Given the description of an element on the screen output the (x, y) to click on. 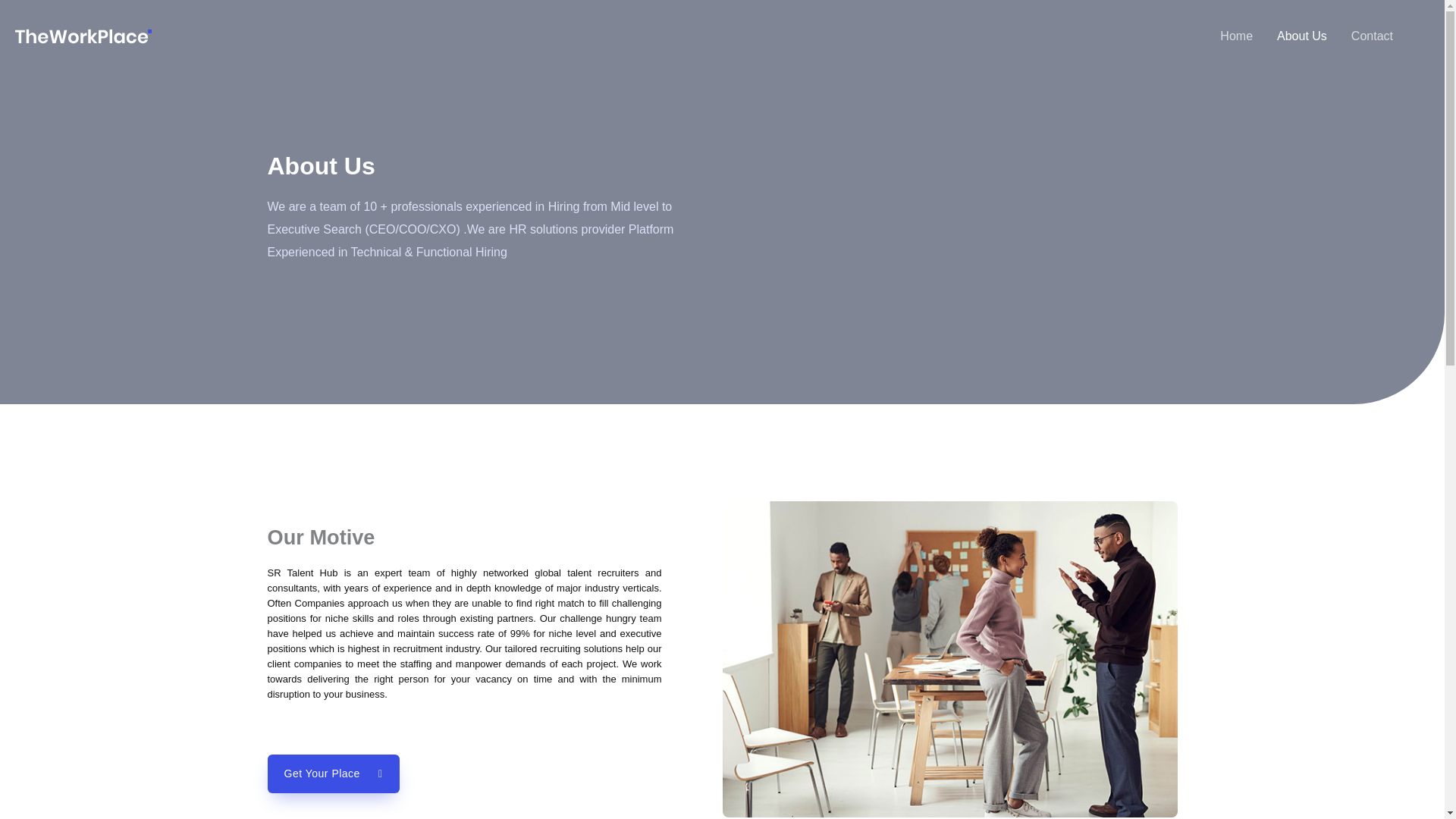
Contact (1372, 36)
Get Your Place (332, 773)
Home (1236, 36)
About Us (1302, 36)
